Given the description of an element on the screen output the (x, y) to click on. 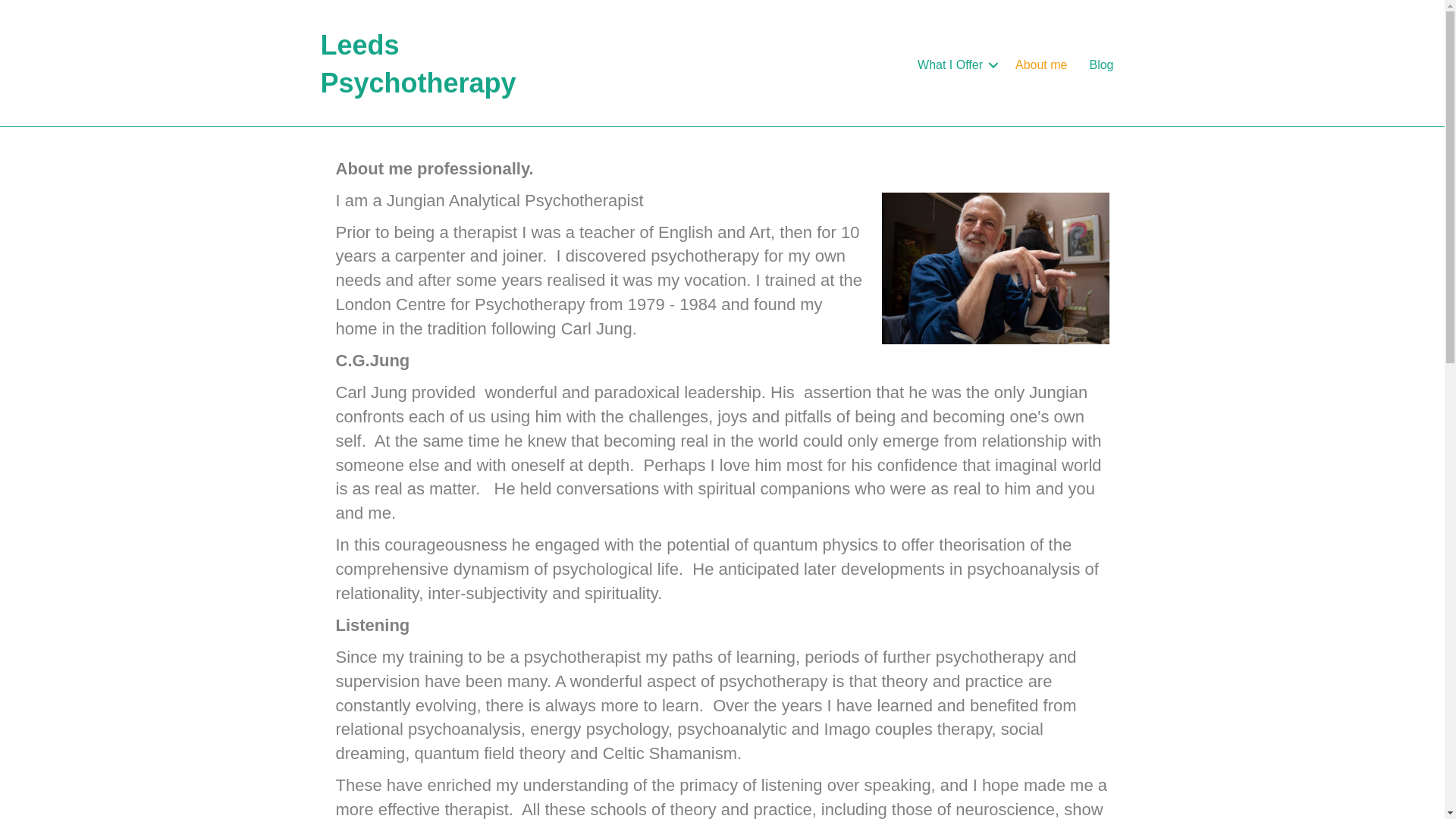
What I Offer (955, 64)
Psychotherapy (955, 64)
Leeds Psychotherapy (417, 63)
Leeds Psychotherapy (417, 63)
Blog (1101, 64)
About me (1040, 64)
